Given the description of an element on the screen output the (x, y) to click on. 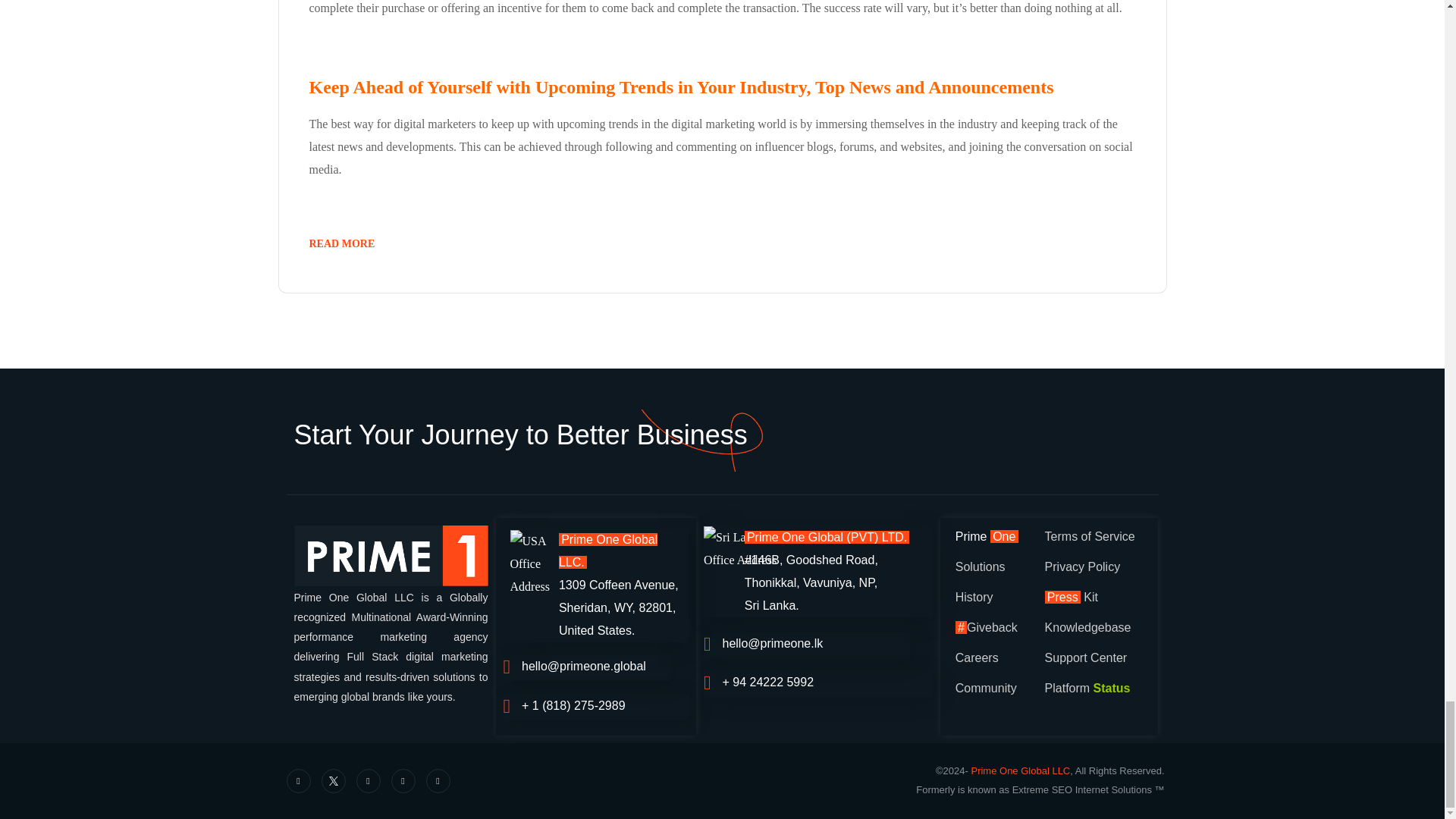
Sri Lanka Office Address (750, 548)
Twitter (333, 781)
Facebook (298, 781)
Instagram (402, 781)
LinkedIn (368, 781)
YouTube (437, 781)
